Given the description of an element on the screen output the (x, y) to click on. 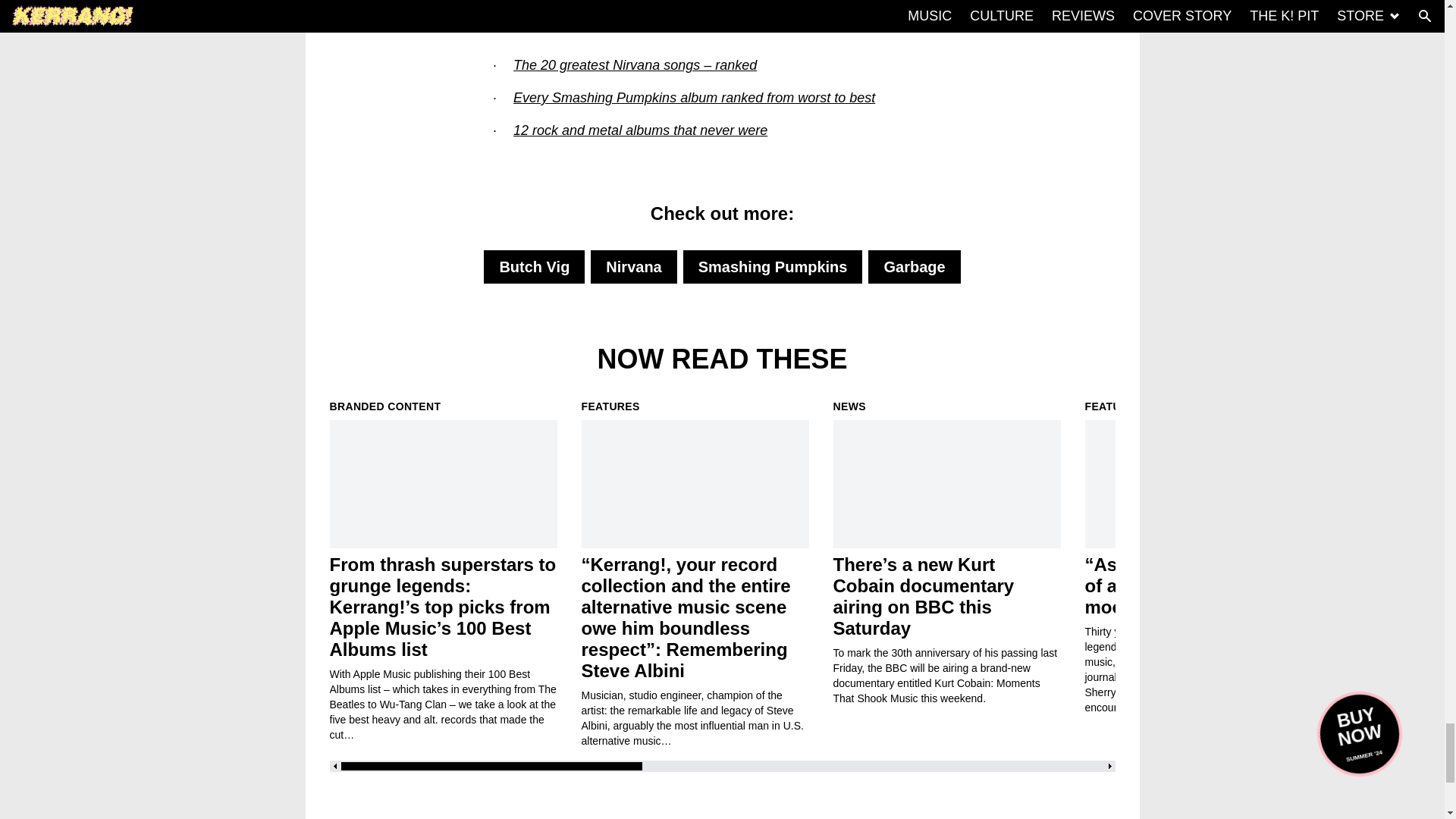
Nirvana (634, 266)
Every Smashing Pumpkins album ranked from worst to best (694, 97)
Garbage (913, 266)
Butch Vig (534, 266)
Smashing Pumpkins (772, 266)
12 rock and metal albums that never were (640, 130)
